Given the description of an element on the screen output the (x, y) to click on. 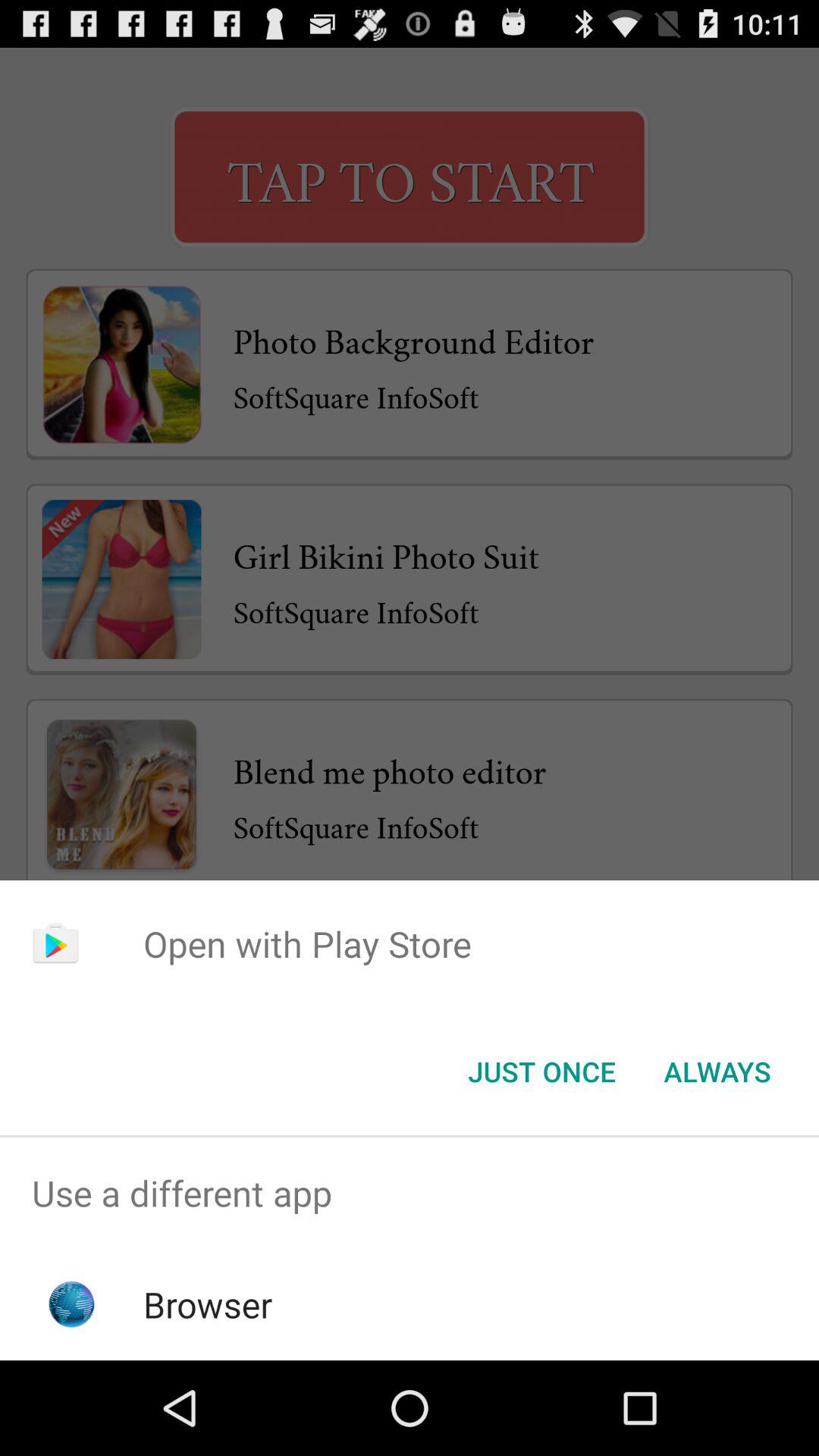
flip until the browser icon (207, 1304)
